Given the description of an element on the screen output the (x, y) to click on. 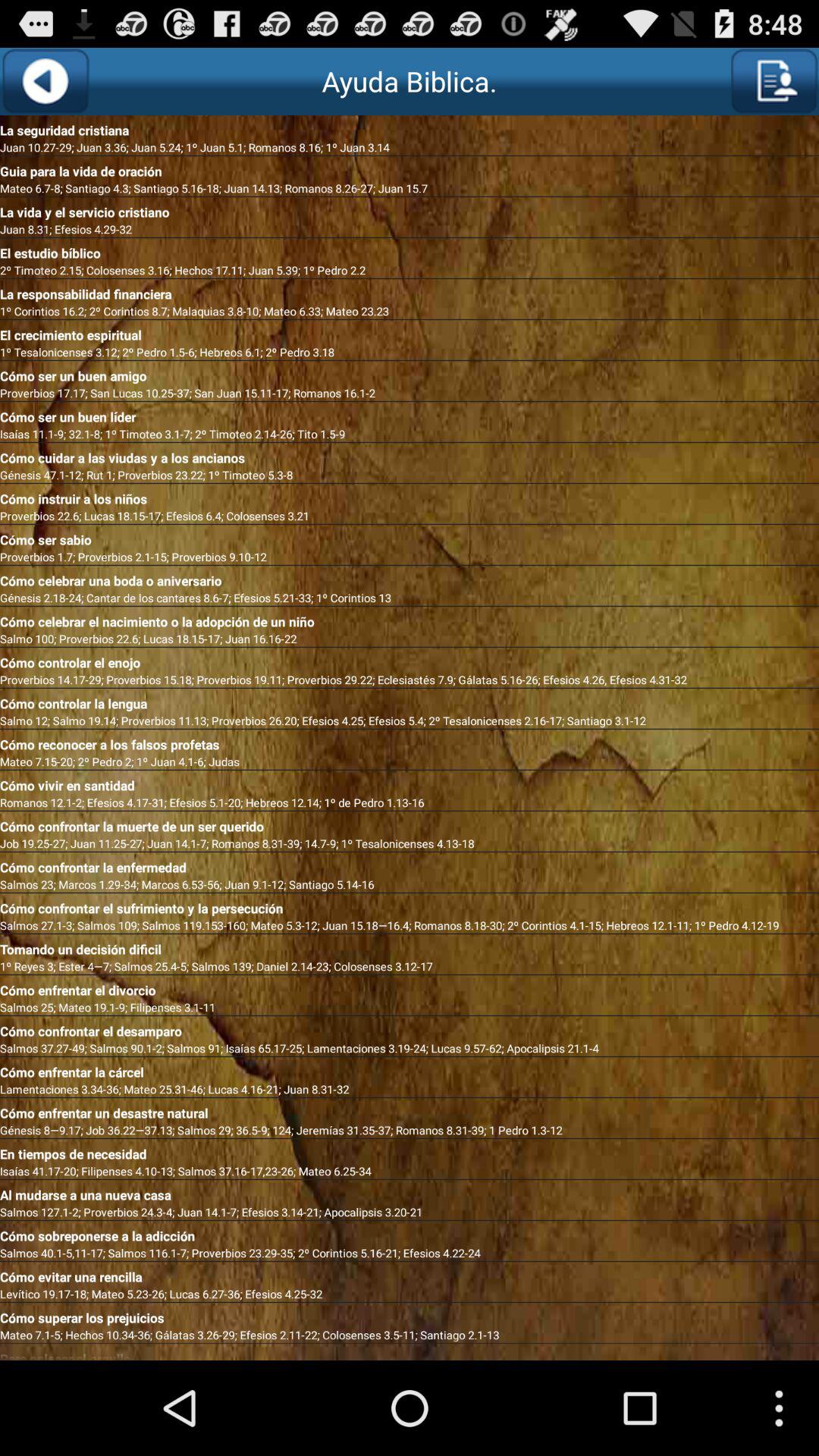
jump until en tiempos de app (409, 1151)
